Given the description of an element on the screen output the (x, y) to click on. 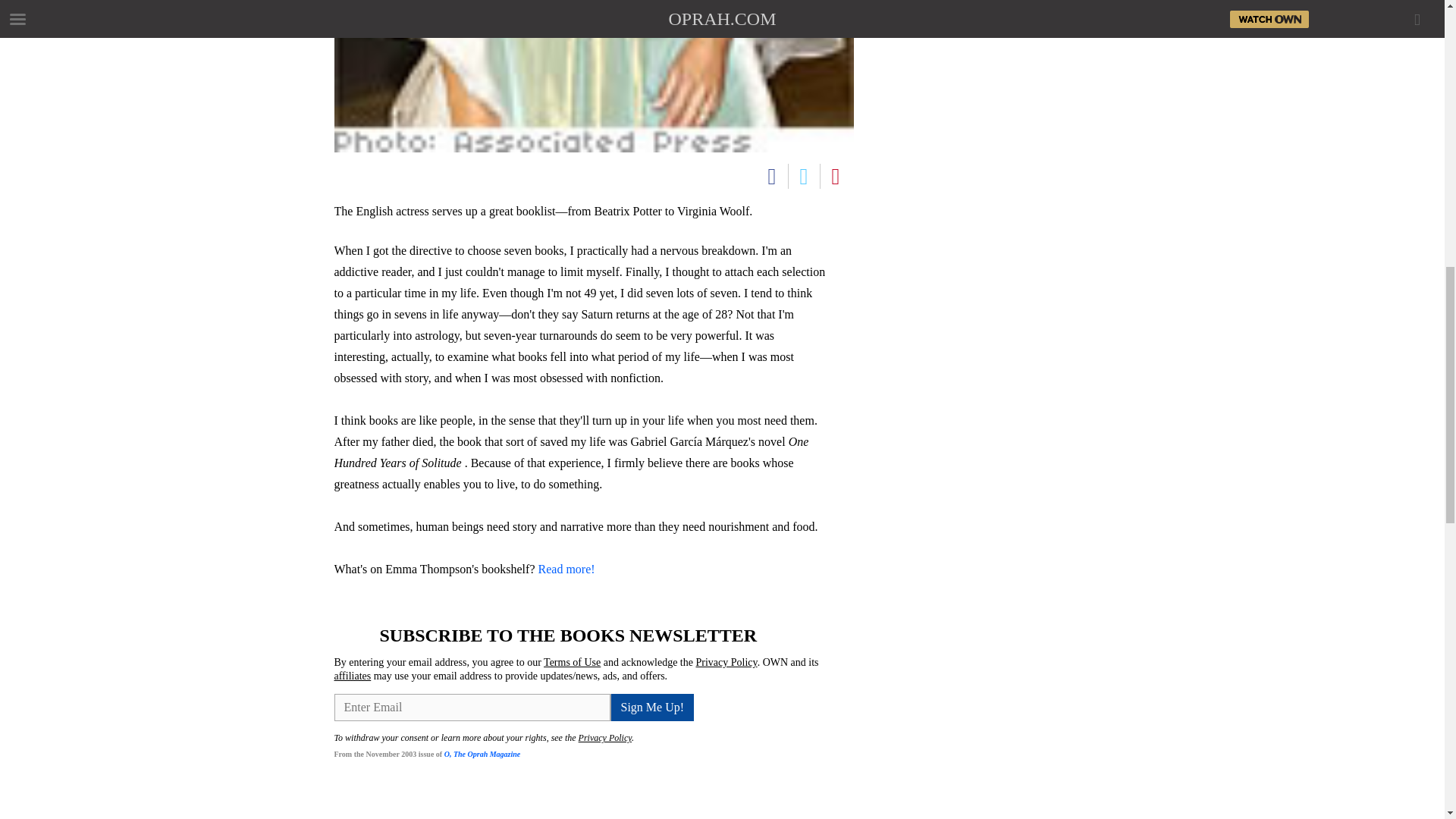
Privacy Policy (726, 662)
Privacy Policy (604, 737)
affiliates (352, 675)
Read more! (566, 568)
Privacy Policy (923, 15)
O, The Oprah Magazine (482, 754)
Actress Emma Thompson's favorite novels (593, 76)
Terms of Use (571, 662)
